Given the description of an element on the screen output the (x, y) to click on. 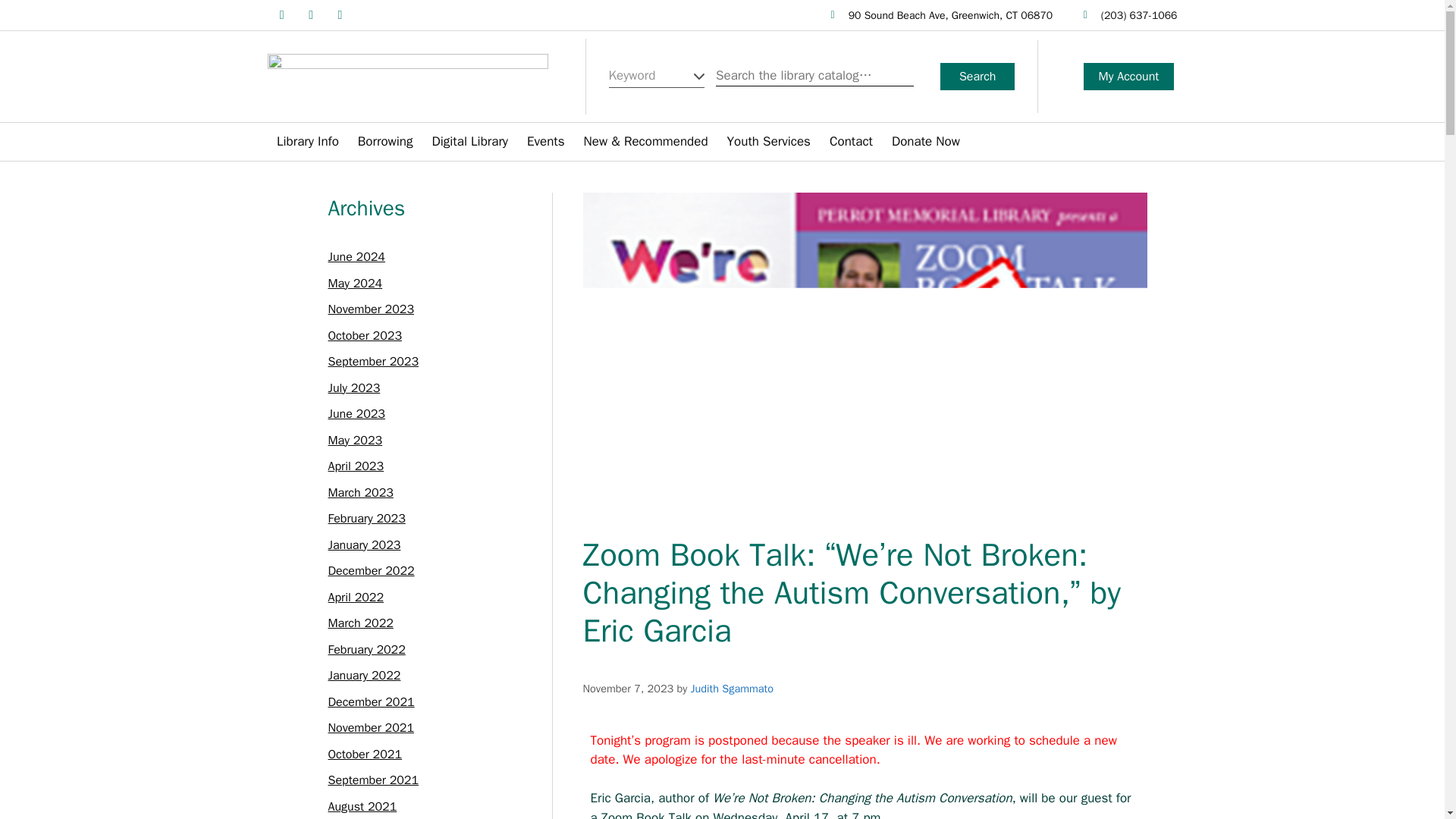
My Account (1128, 76)
Search (977, 76)
Library Info (307, 141)
Events (545, 141)
Borrowing (385, 141)
View all posts by Judith Sgammato (731, 688)
Digital Library (470, 141)
Search (977, 76)
